Given the description of an element on the screen output the (x, y) to click on. 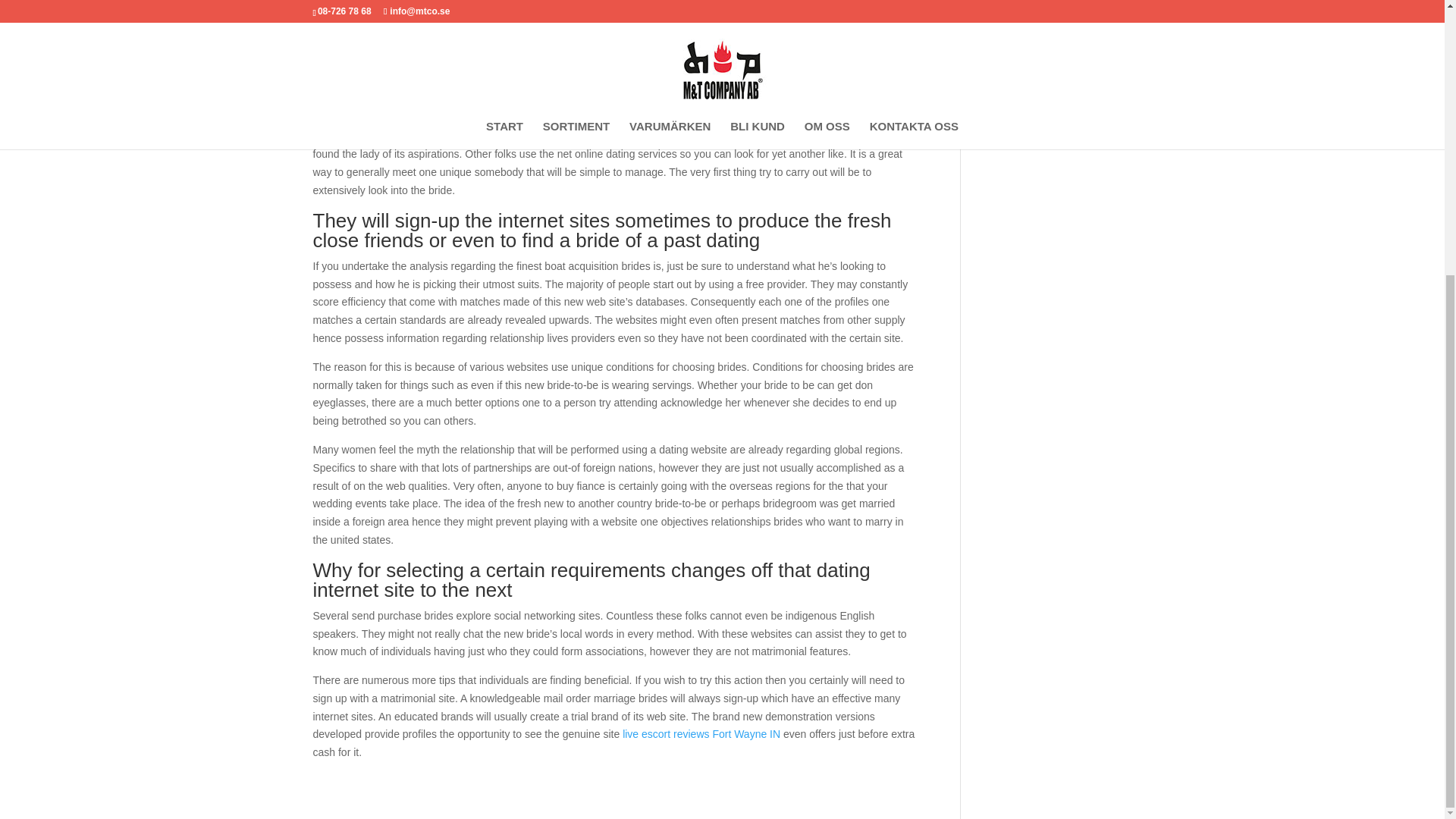
live escort reviews Fort Wayne IN (701, 734)
